Given the description of an element on the screen output the (x, y) to click on. 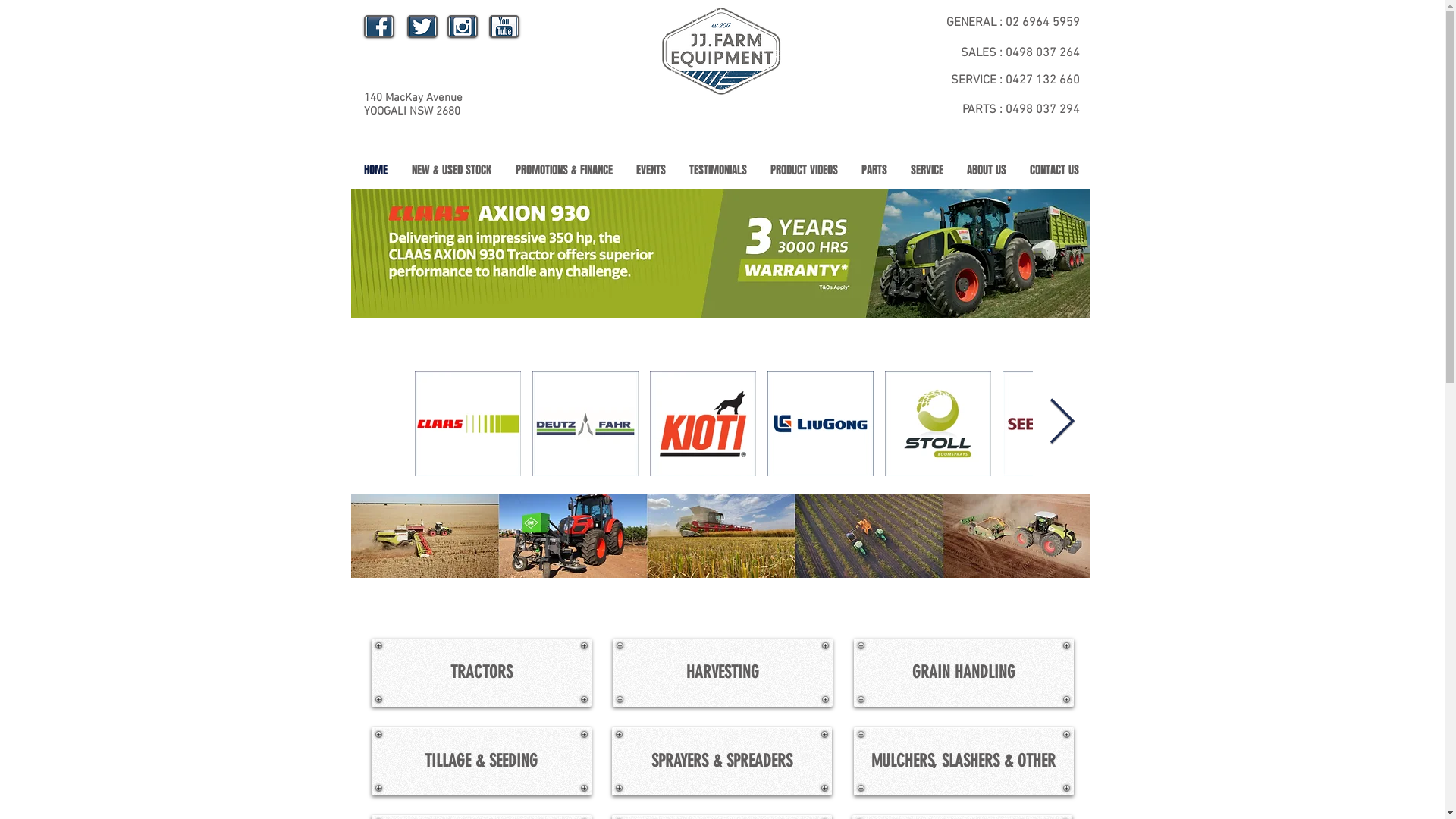
TESTIMONIALS Element type: text (718, 170)
ABOUT US Element type: text (953, 167)
NEW & USED STOCK Element type: text (953, 88)
GRAIN HANDLING Element type: text (963, 672)
HOME Element type: text (375, 170)
TRACTORS Element type: text (481, 672)
SERVICE Element type: text (927, 170)
HOME Element type: text (953, 76)
TILLAGE & SEEDING Element type: text (481, 761)
PROMOTIONS & FINANCE Element type: text (563, 170)
HARVESTING Element type: text (722, 672)
TESTIMONIALS Element type: text (953, 122)
SERVICE Element type: text (953, 156)
EVENTS Element type: text (650, 170)
PROMOTIONS & FINANCE Element type: text (953, 99)
PARTS Element type: text (953, 144)
PRODUCT VIDEOS Element type: text (953, 133)
PARTS Element type: text (873, 170)
EVENTS Element type: text (953, 110)
CONTACT US Element type: text (1053, 170)
MULCHERS, SLASHERS & OTHER Element type: text (963, 761)
CONTACT US Element type: text (953, 179)
ABOUT US Element type: text (986, 170)
NEW & USED STOCK Element type: text (450, 170)
SPRAYERS & SPREADERS Element type: text (721, 761)
PRODUCT VIDEOS Element type: text (803, 170)
